Given the description of an element on the screen output the (x, y) to click on. 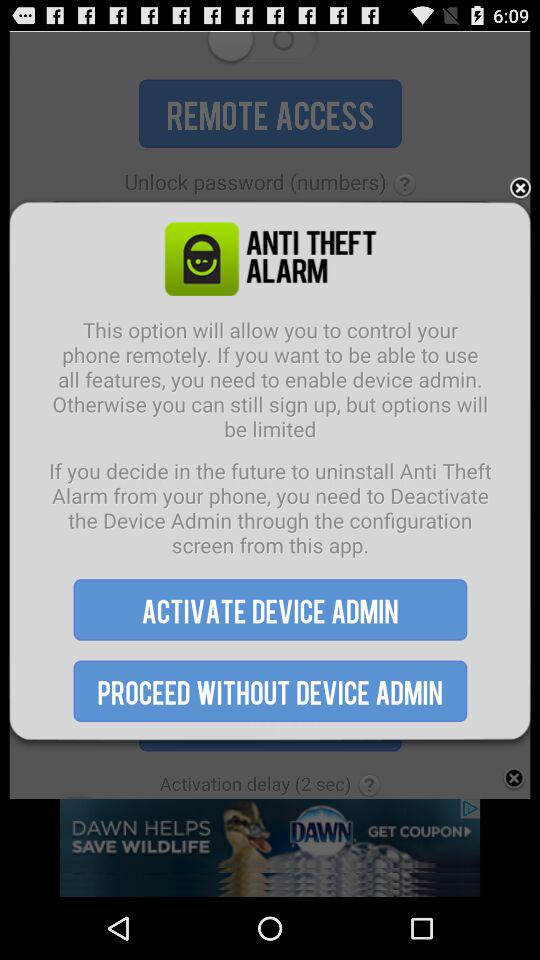
flip until proceed without device icon (270, 690)
